Given the description of an element on the screen output the (x, y) to click on. 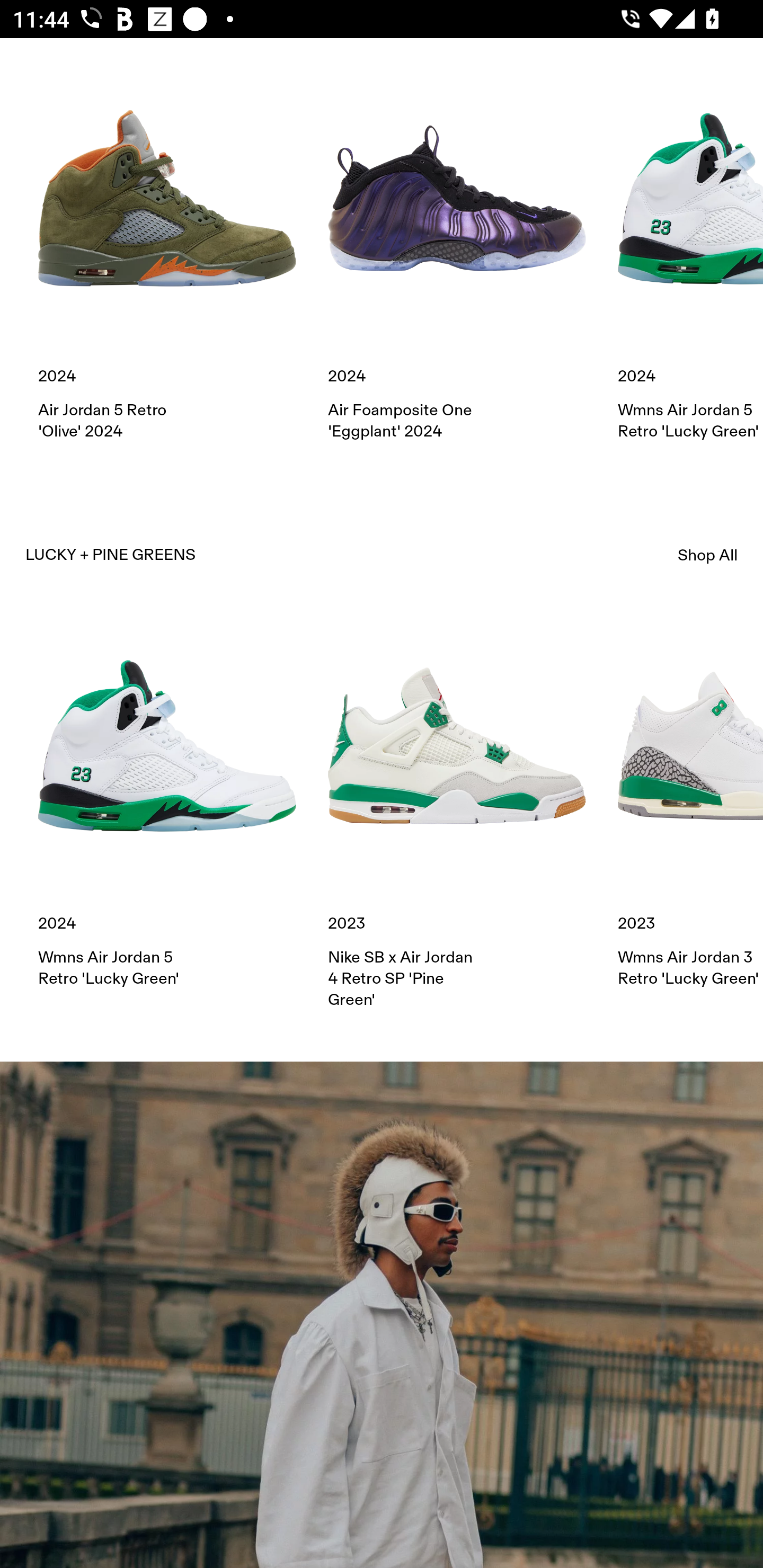
2024 Air Jordan 5 Retro 'Olive' 2024 (167, 255)
2024 Air Foamposite One 'Eggplant' 2024 (456, 255)
2024 Wmns Air Jordan 5 Retro 'Lucky Green' (690, 255)
Shop All (707, 554)
2024 Wmns Air Jordan 5 Retro 'Lucky Green' (167, 802)
2023 Nike SB x Air Jordan 4 Retro SP 'Pine Green' (456, 813)
2023 Wmns Air Jordan 3 Retro 'Lucky Green' (690, 802)
